Given the description of an element on the screen output the (x, y) to click on. 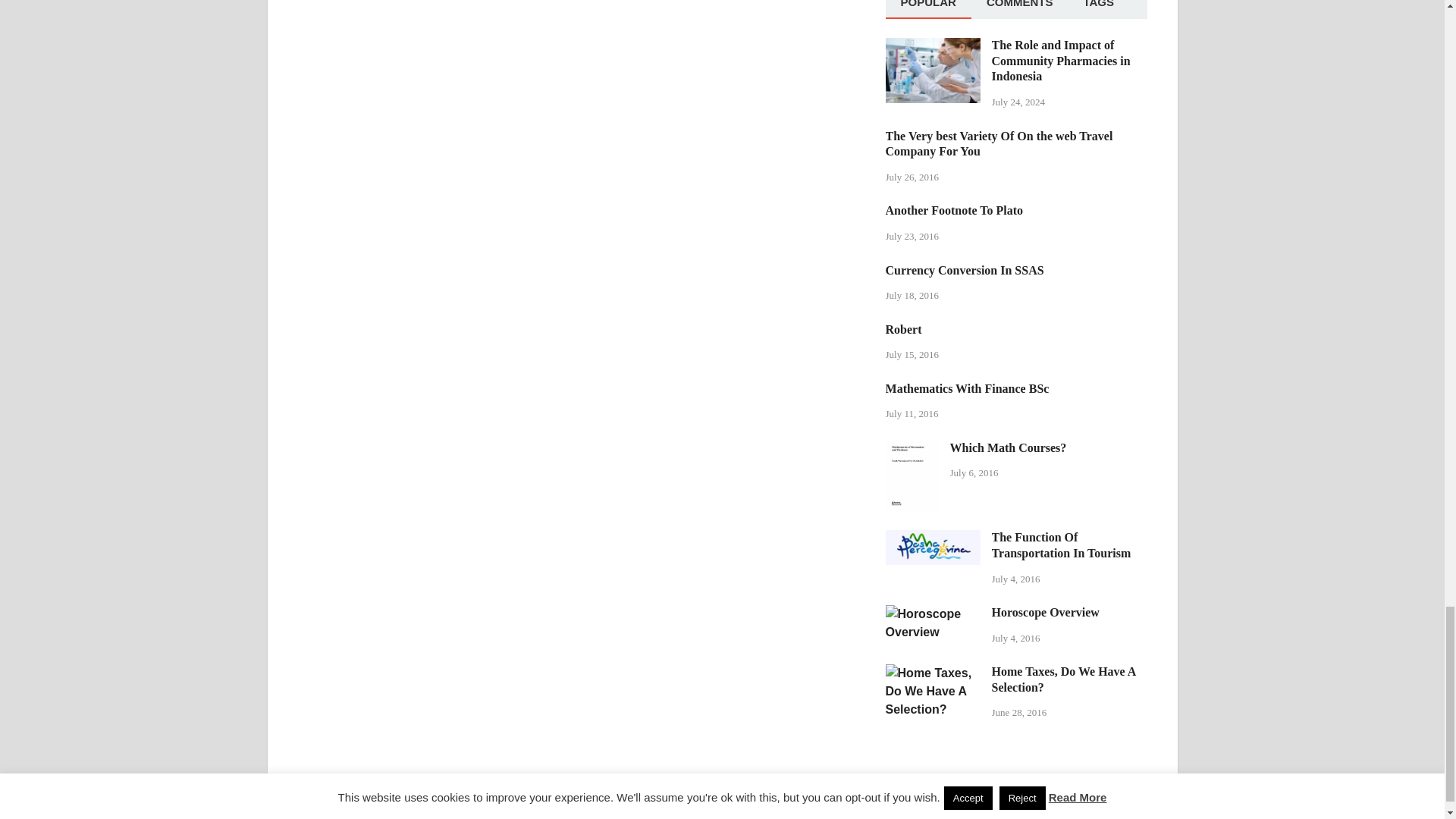
The Role and Impact of Community Pharmacies in Indonesia (932, 46)
The Function Of Transportation In Tourism (932, 538)
Home Taxes, Do We Have A Selection? (932, 672)
Horoscope Overview (932, 613)
Which Math Courses? (912, 449)
